Given the description of an element on the screen output the (x, y) to click on. 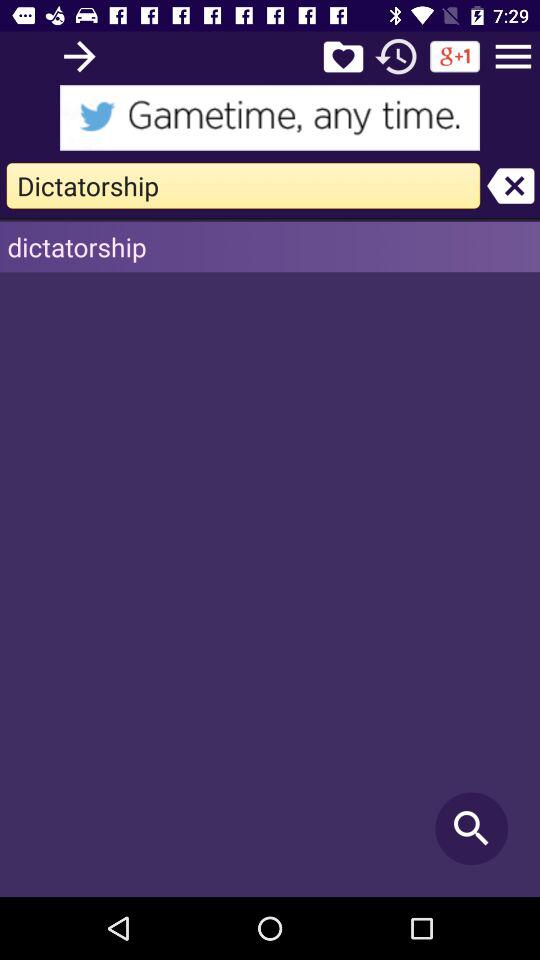
main menu option (513, 56)
